Given the description of an element on the screen output the (x, y) to click on. 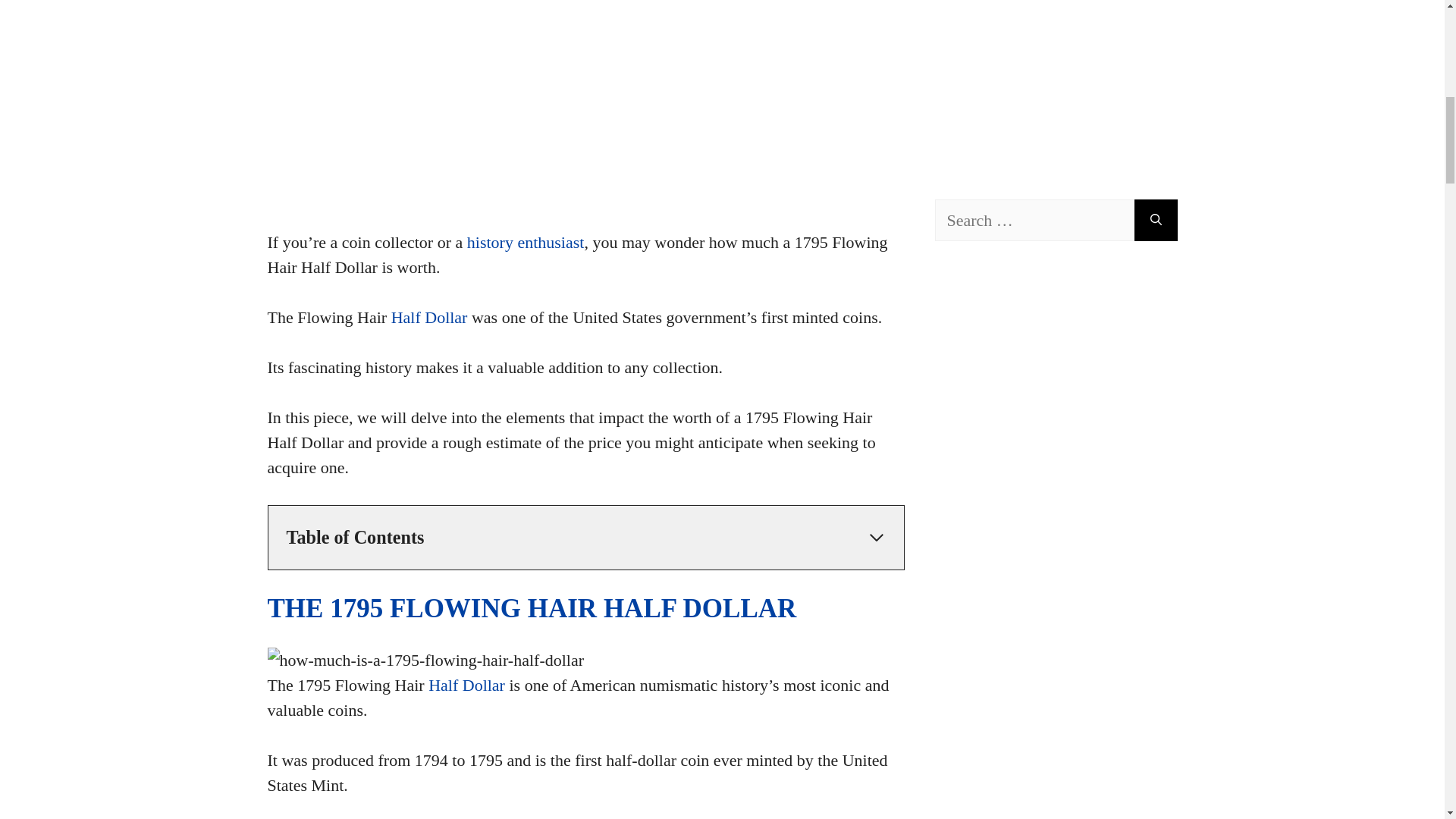
Half Dollar (466, 684)
history enthusiast (526, 241)
Search for: (1034, 219)
THE 1795 FLOWING HAIR HALF DOLLAR (531, 608)
Half Dollar (429, 316)
